Given the description of an element on the screen output the (x, y) to click on. 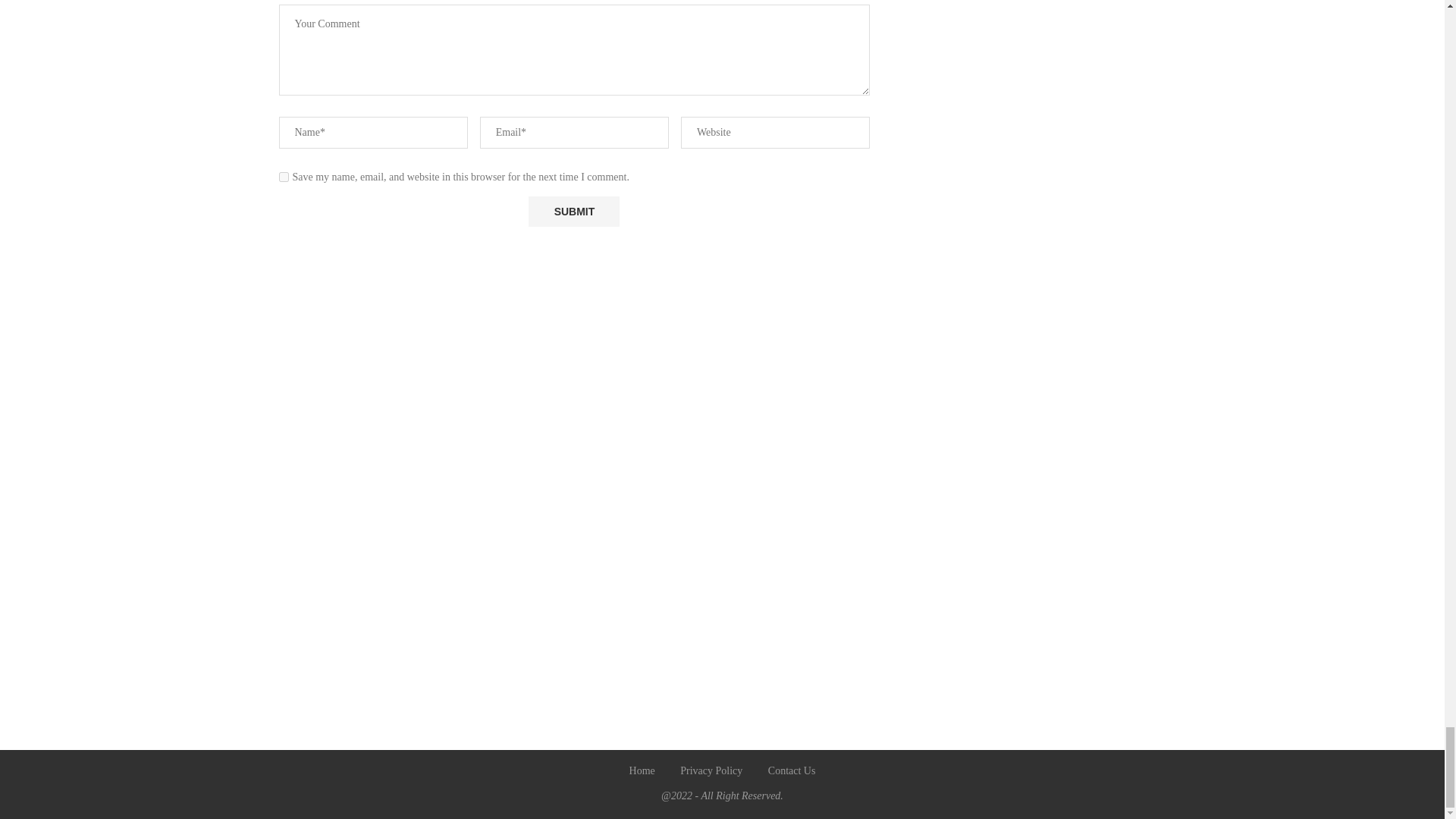
Submit (574, 210)
yes (283, 176)
